Given the description of an element on the screen output the (x, y) to click on. 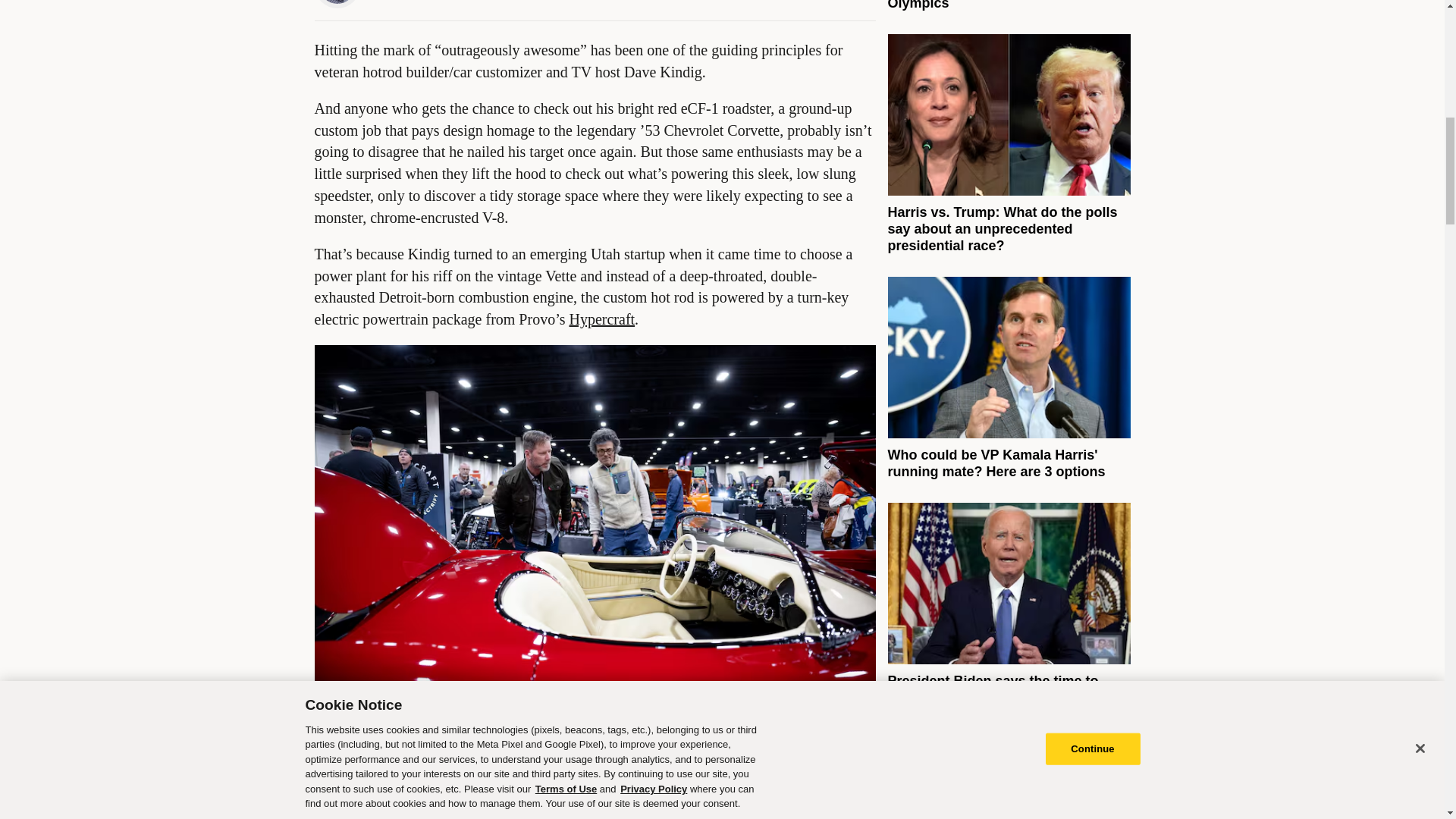
Hypercraft (601, 319)
PURCHASE IMAGE (399, 766)
